Given the description of an element on the screen output the (x, y) to click on. 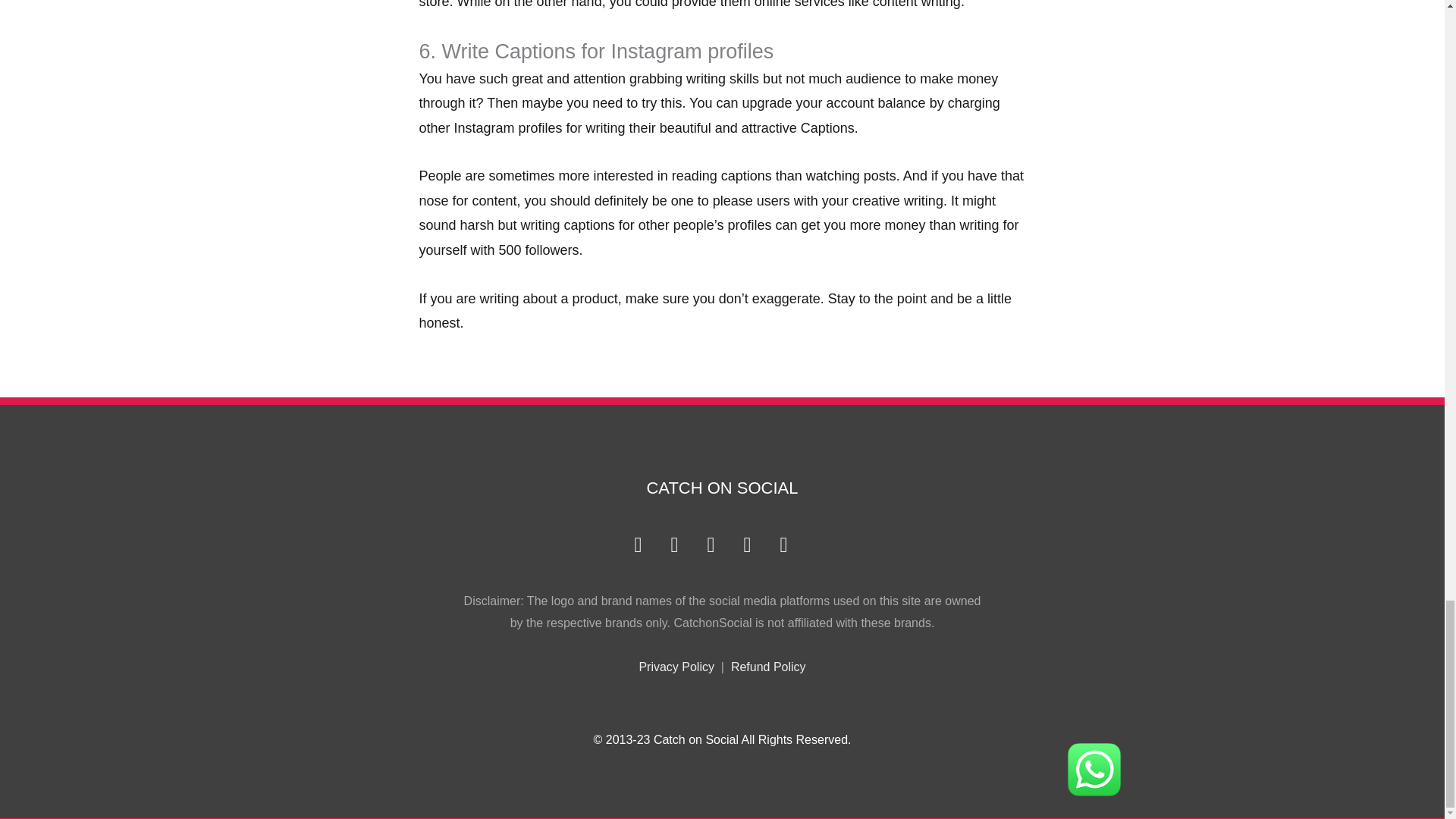
CATCH ON SOCIAL (721, 487)
Refund Policy (768, 666)
Privacy Policy (676, 666)
